Given the description of an element on the screen output the (x, y) to click on. 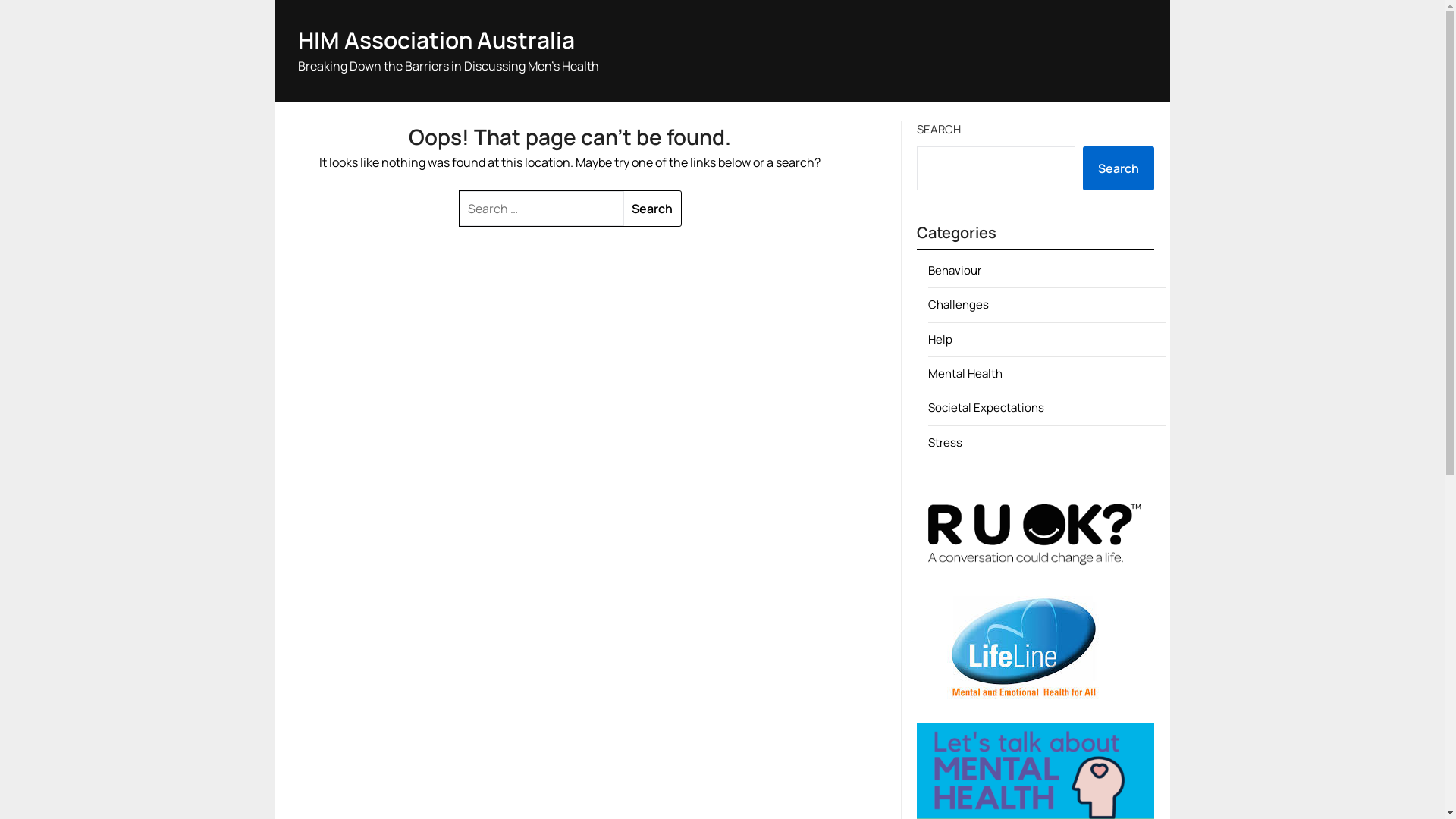
Stress Element type: text (945, 442)
HIM Association Australia Element type: text (435, 39)
Societal Expectations Element type: text (986, 407)
Search Element type: text (651, 208)
Help Element type: text (940, 339)
Search Element type: text (1118, 168)
Mental Health Element type: text (965, 373)
Challenges Element type: text (958, 304)
Behaviour Element type: text (954, 270)
